Given the description of an element on the screen output the (x, y) to click on. 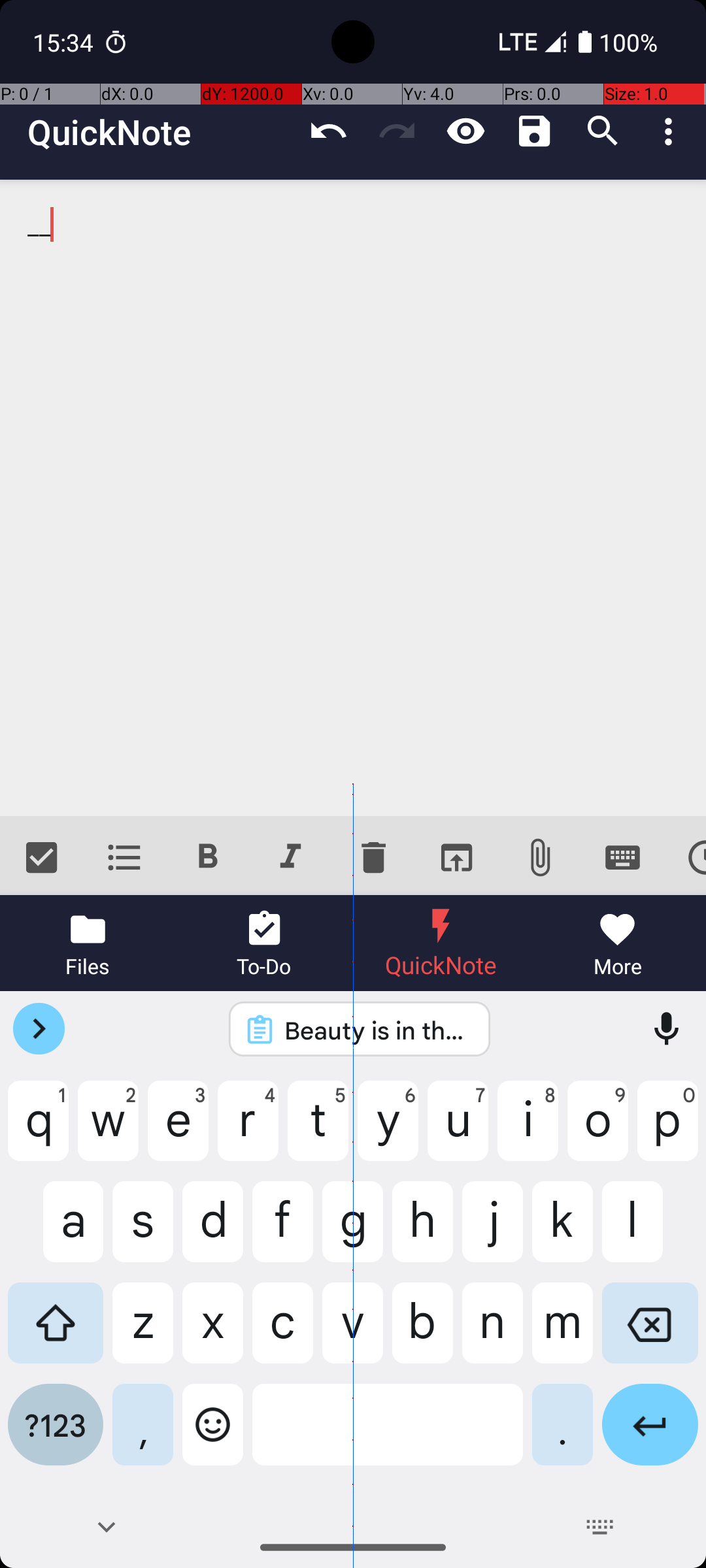
__ Element type: android.widget.EditText (353, 497)
Beauty is in the eye of the beholder. Element type: android.widget.TextView (376, 1029)
